Given the description of an element on the screen output the (x, y) to click on. 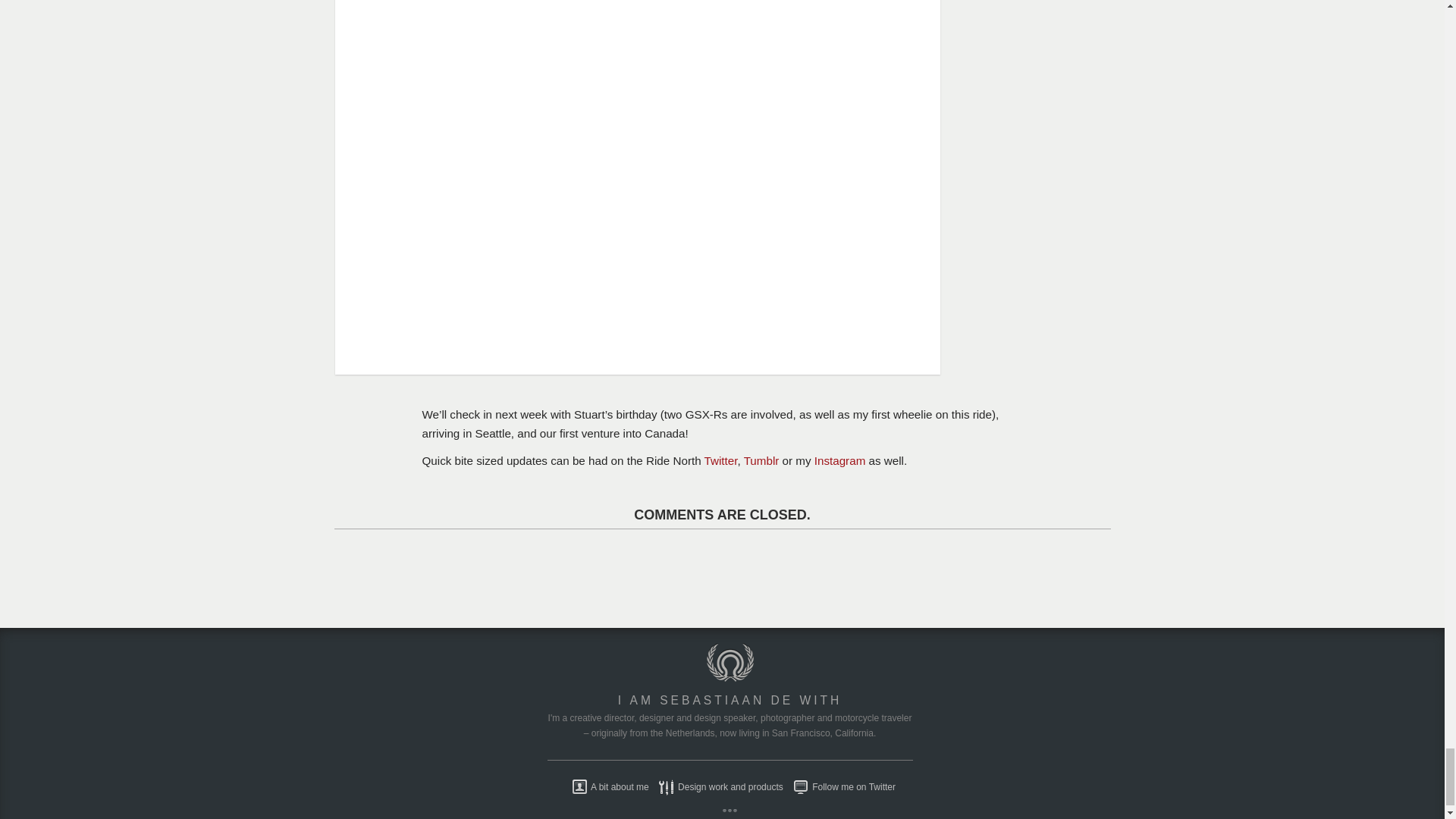
Instagram (839, 460)
Tumblr (761, 460)
Design work and products (716, 787)
Follow me on Twitter (840, 787)
A bit about me (606, 787)
Twitter (721, 460)
Cocoia (730, 678)
